Given the description of an element on the screen output the (x, y) to click on. 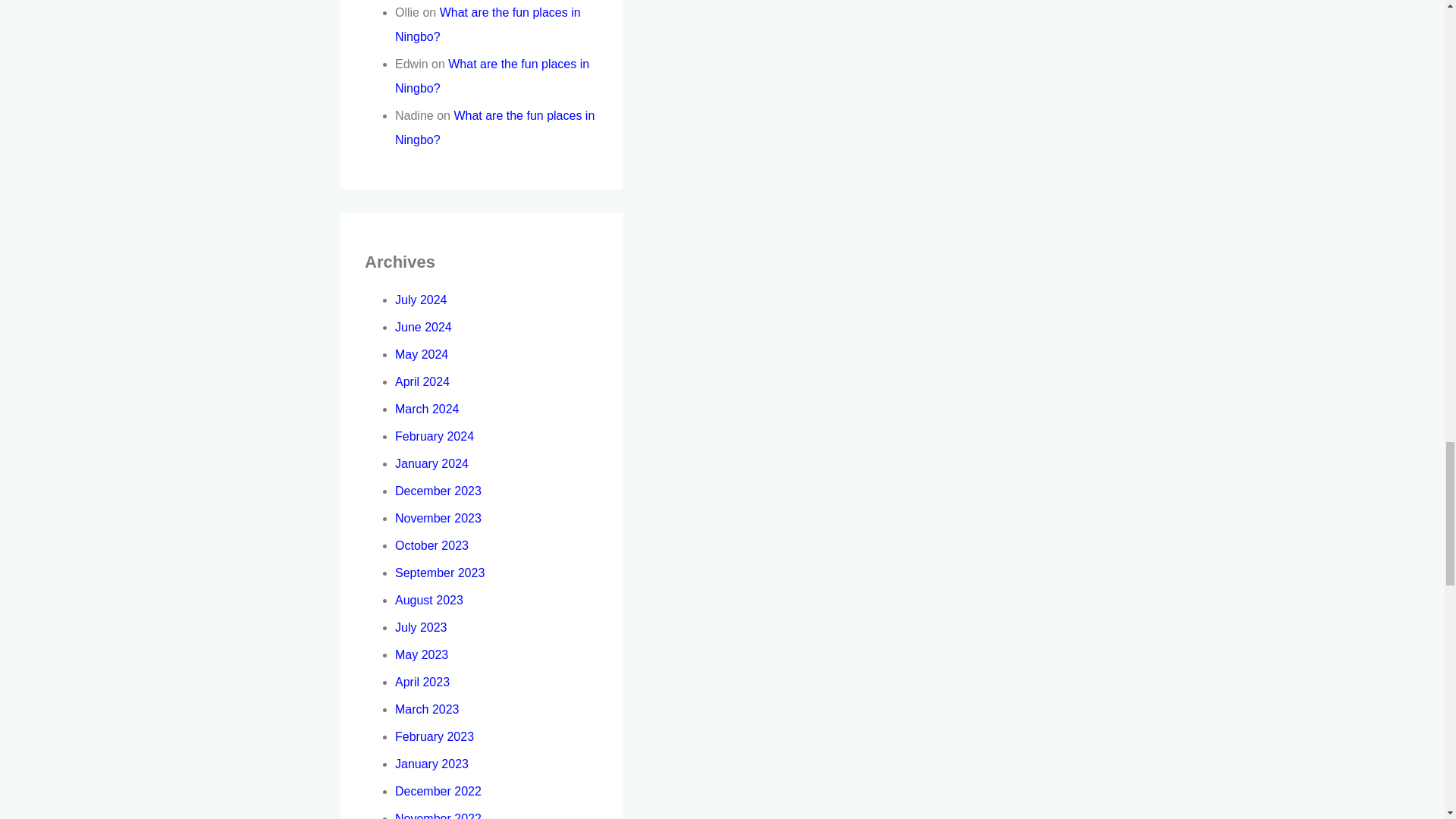
May 2024 (421, 354)
What are the fun places in Ningbo? (494, 127)
June 2024 (422, 327)
July 2024 (420, 299)
What are the fun places in Ningbo? (487, 24)
April 2024 (421, 381)
What are the fun places in Ningbo? (491, 76)
